Given the description of an element on the screen output the (x, y) to click on. 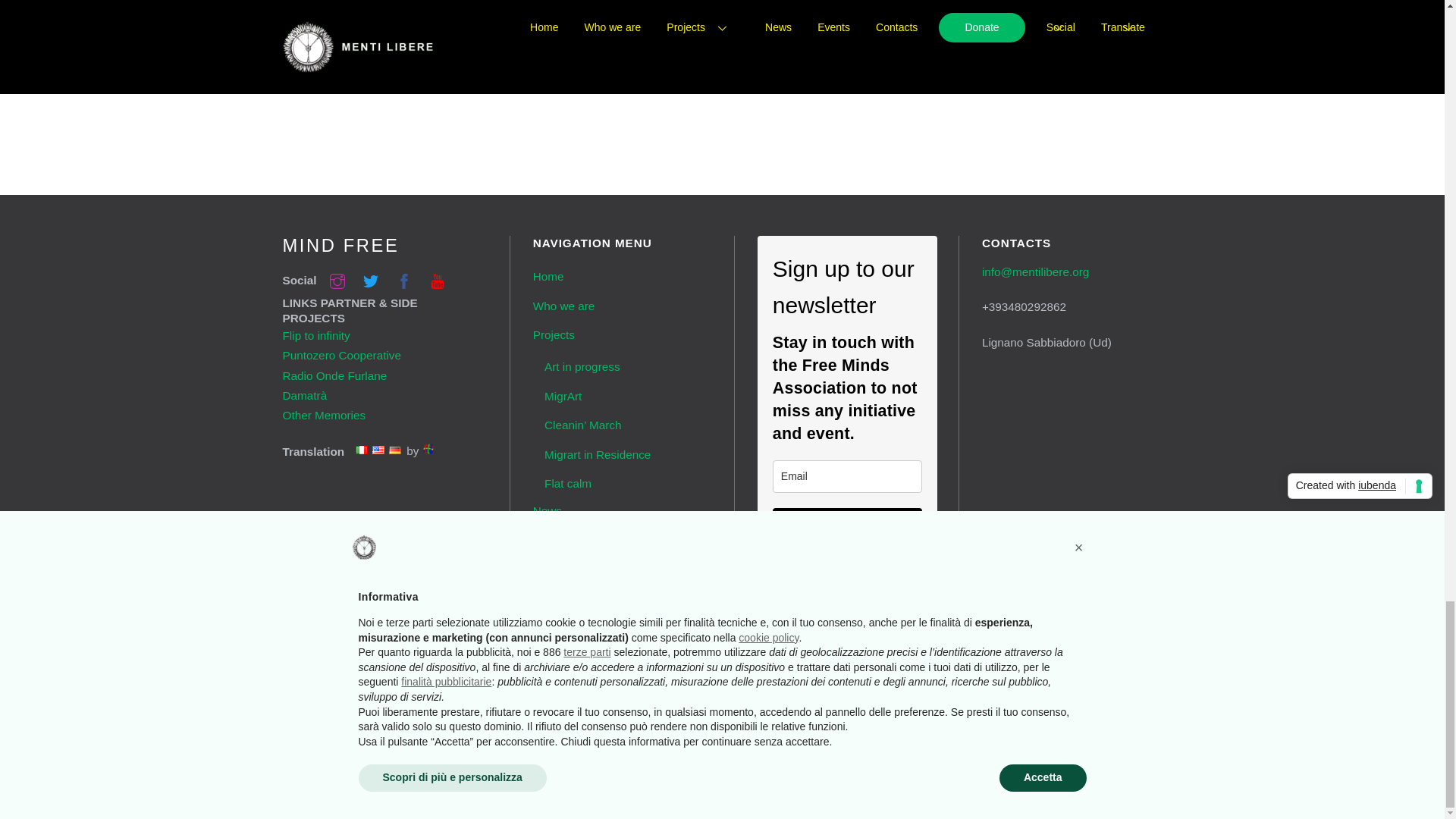
BLOG (295, 41)
CleaninMarchPoster11 copia (595, 12)
FLAT CALM (341, 41)
png-ME (807, 12)
